Given the description of an element on the screen output the (x, y) to click on. 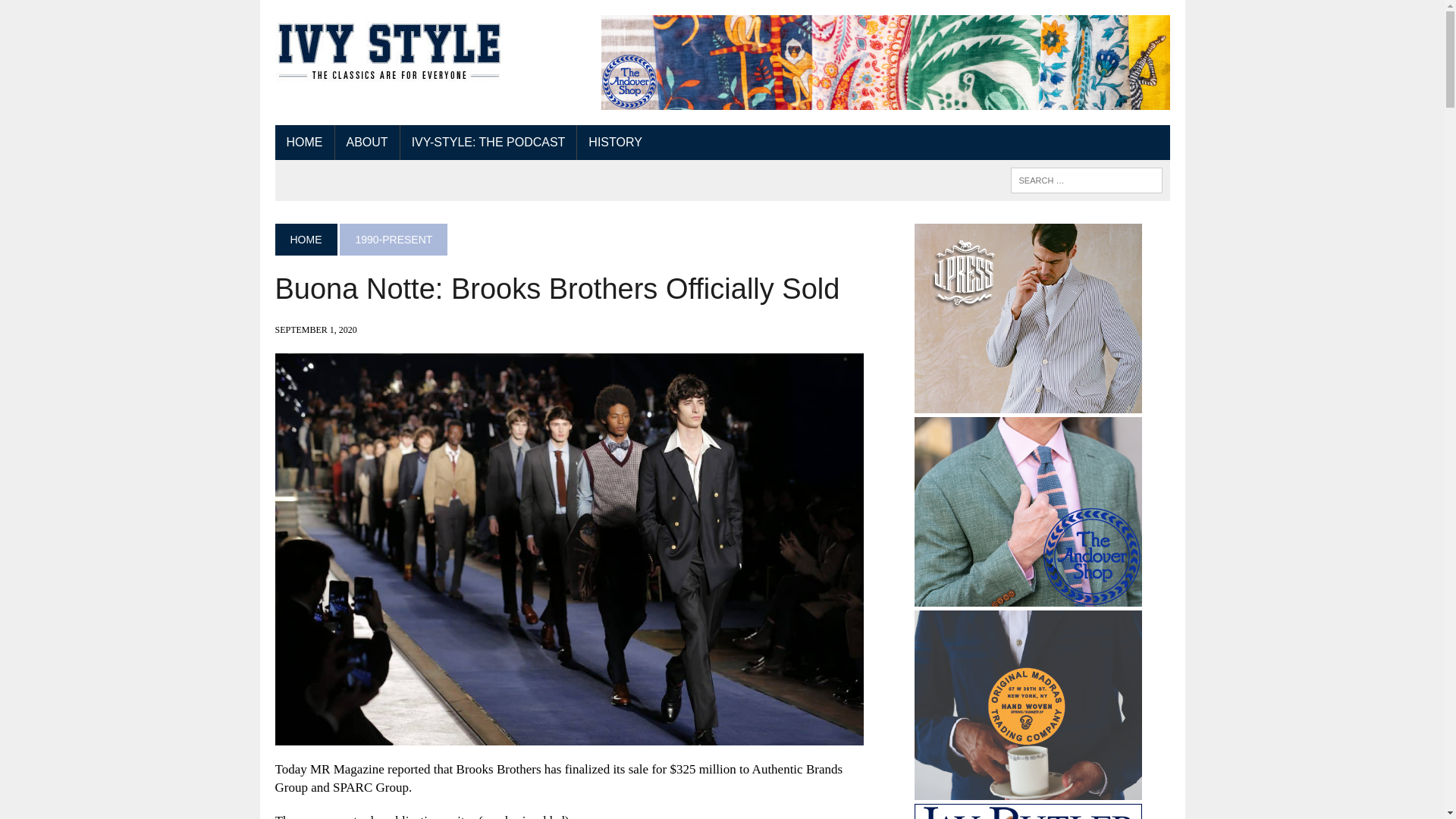
Search (75, 14)
Ivy Style (388, 52)
HISTORY (614, 142)
ABOUT (366, 142)
HOME (304, 142)
1990-PRESENT (392, 239)
IVY-STYLE: THE PODCAST (488, 142)
HOME (305, 239)
